Given the description of an element on the screen output the (x, y) to click on. 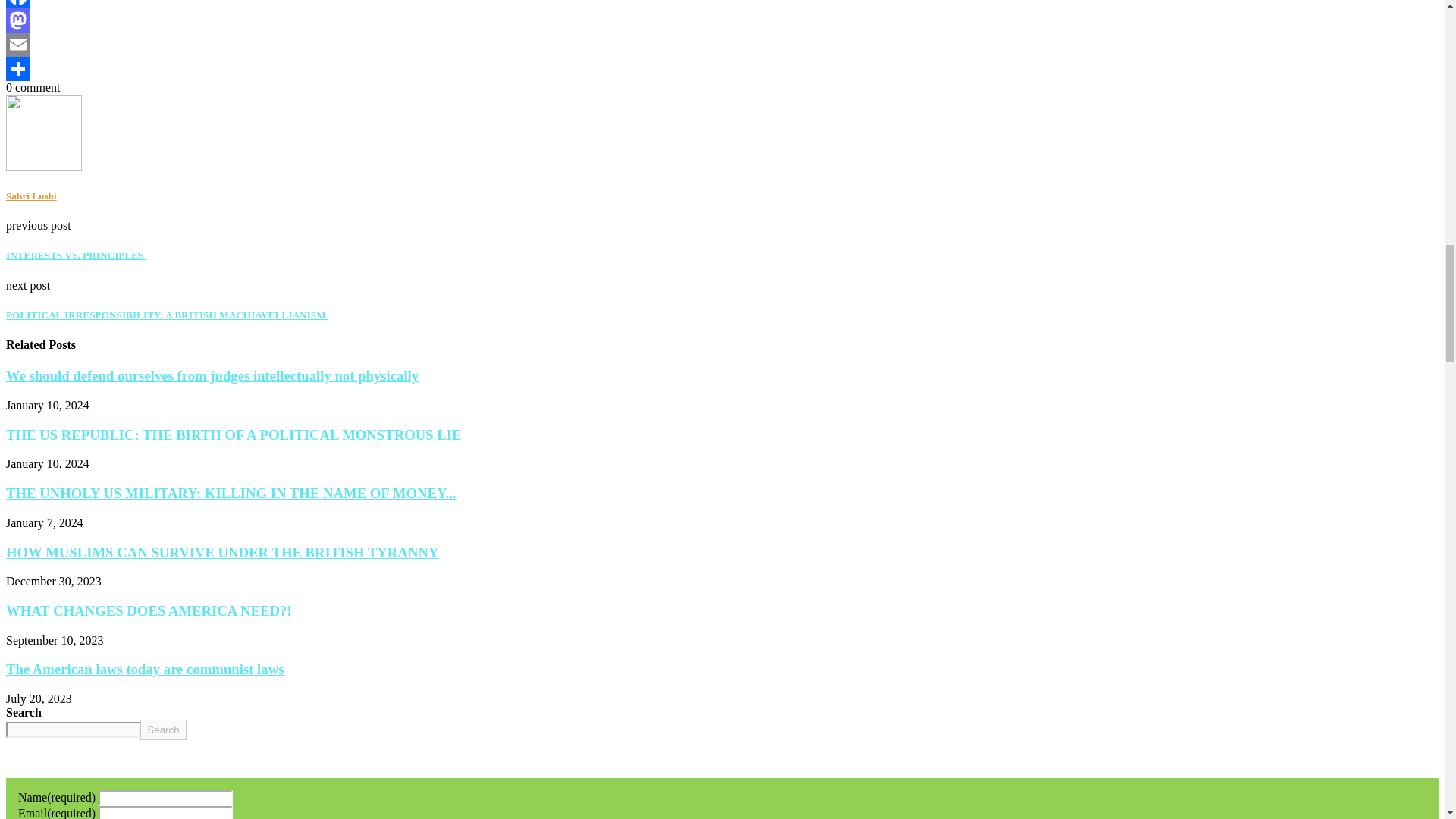
Author Sabri Lushi (30, 195)
